Given the description of an element on the screen output the (x, y) to click on. 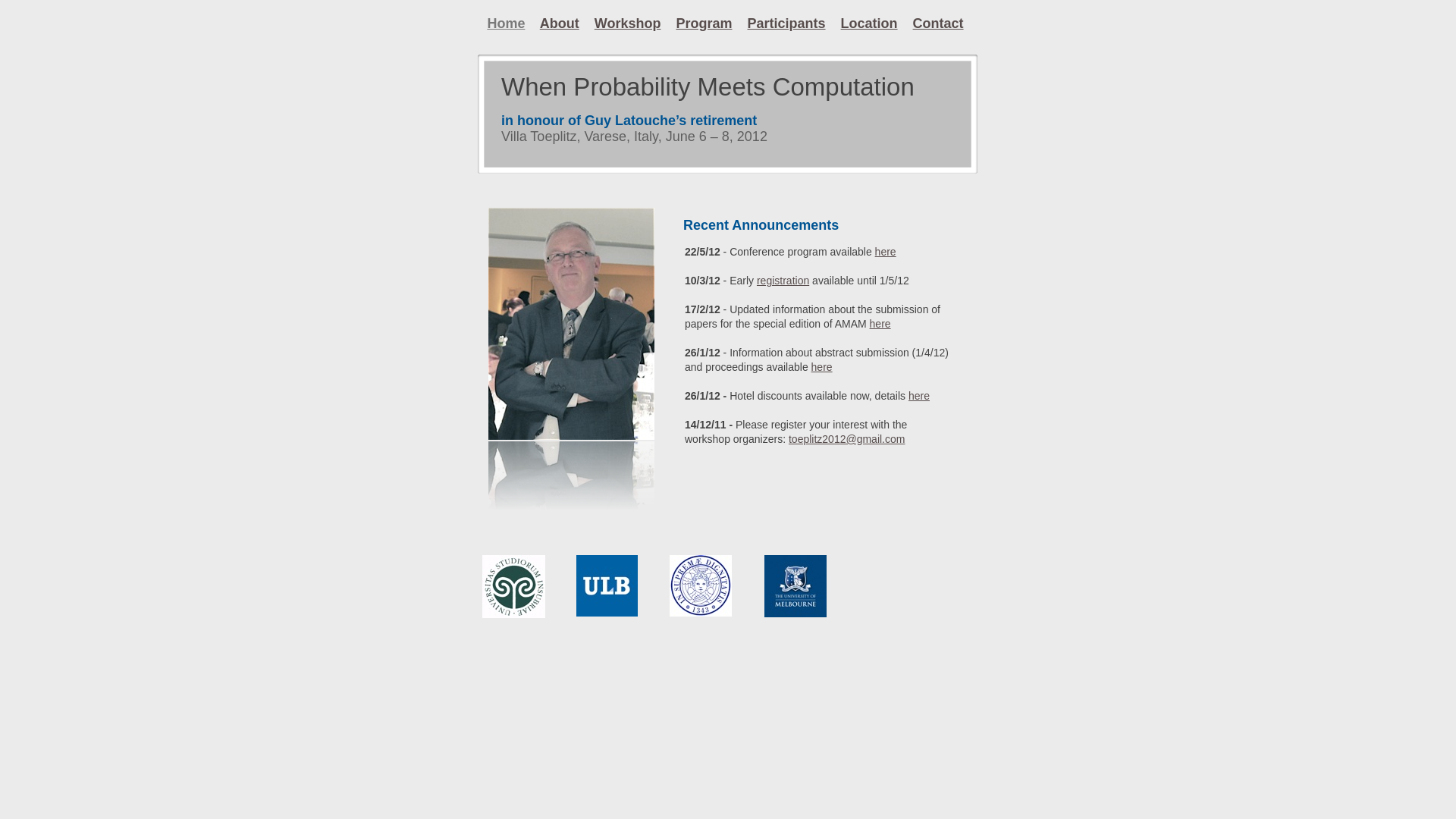
Location Element type: text (868, 23)
Contact Element type: text (938, 23)
toeplitz2012@gmail.com Element type: text (846, 439)
here Element type: text (918, 395)
registration Element type: text (782, 280)
Workshop Element type: text (627, 23)
here Element type: text (880, 323)
here Element type: text (885, 251)
Participants Element type: text (786, 23)
Program Element type: text (703, 23)
here Element type: text (821, 366)
About Element type: text (559, 23)
Home Element type: text (505, 23)
